Given the description of an element on the screen output the (x, y) to click on. 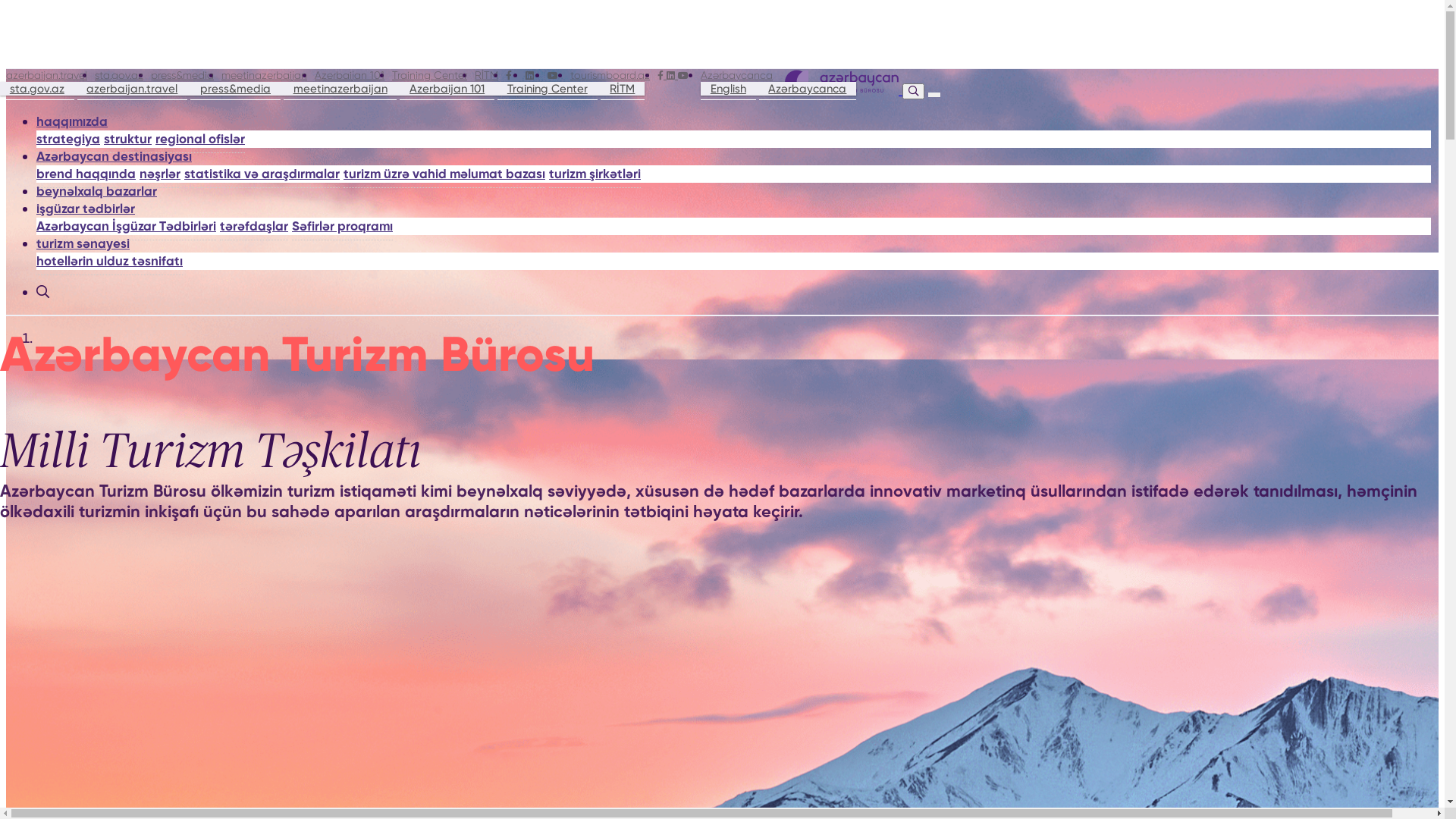
azerbaijan.travel Element type: text (132, 89)
Training Center Element type: text (547, 89)
azerbaijan.travel Element type: text (46, 74)
strategiya Element type: text (68, 140)
struktur Element type: text (127, 140)
meetinazerbaijan Element type: text (340, 89)
meetinazerbaijan Element type: text (264, 74)
English Element type: text (728, 89)
sta.gov.az Element type: text (118, 74)
press&media Element type: text (235, 89)
tourismboard.az Element type: text (609, 74)
press&media Element type: text (181, 74)
Azerbaijan 101 Element type: text (446, 89)
Azerbaijan 101 Element type: text (349, 74)
Training Center Element type: text (429, 74)
sta.gov.az Element type: text (37, 89)
